Given the description of an element on the screen output the (x, y) to click on. 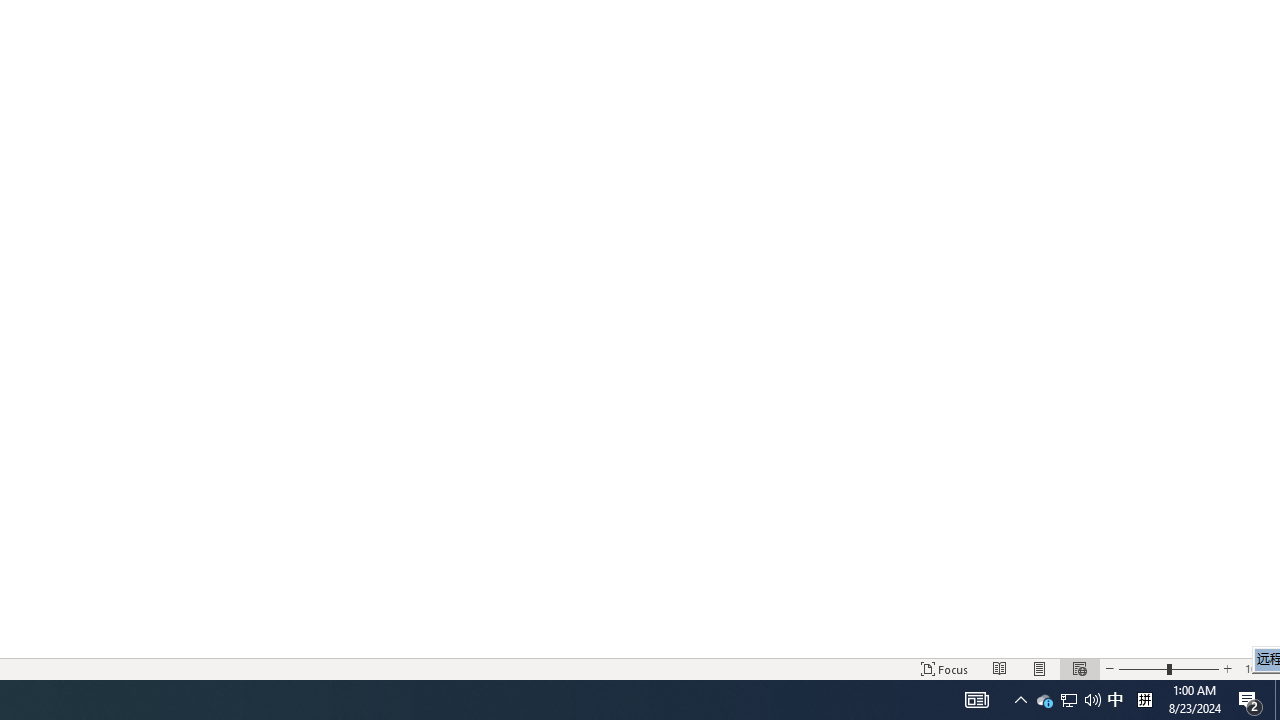
Zoom 100% (1258, 668)
Zoom (1168, 668)
